Given the description of an element on the screen output the (x, y) to click on. 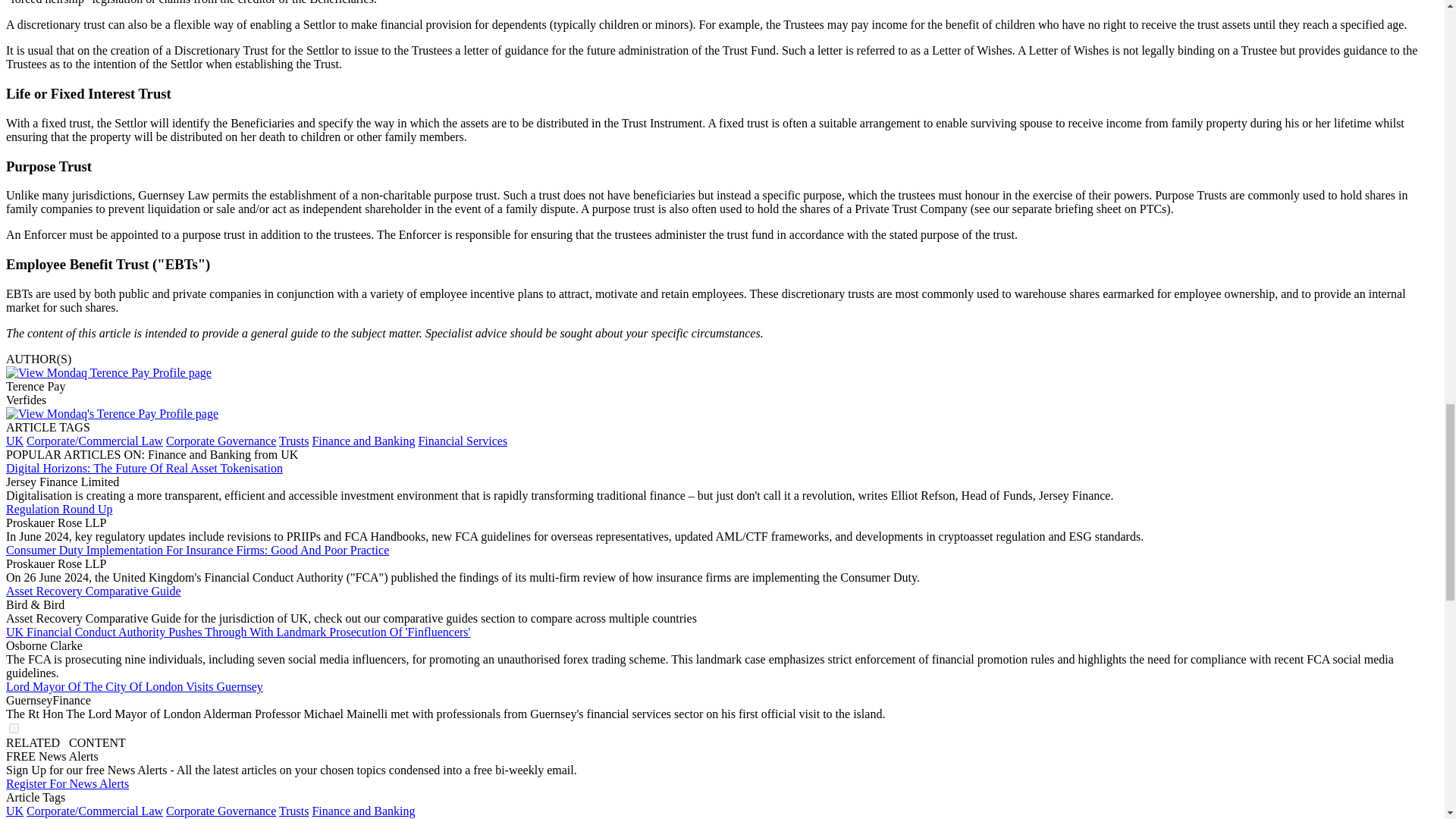
Regulation Round Up (58, 508)
Register For News Alerts (67, 783)
Trusts (293, 440)
UK (14, 810)
Finance and Banking (362, 440)
Financial Services (461, 440)
on (13, 728)
Corporate Governance (220, 440)
Digital Horizons: The Future Of Real Asset Tokenisation (143, 468)
Page tools slideout (65, 742)
Asset Recovery Comparative Guide (92, 590)
More from Terence  Pay (111, 413)
UK (14, 440)
